Given the description of an element on the screen output the (x, y) to click on. 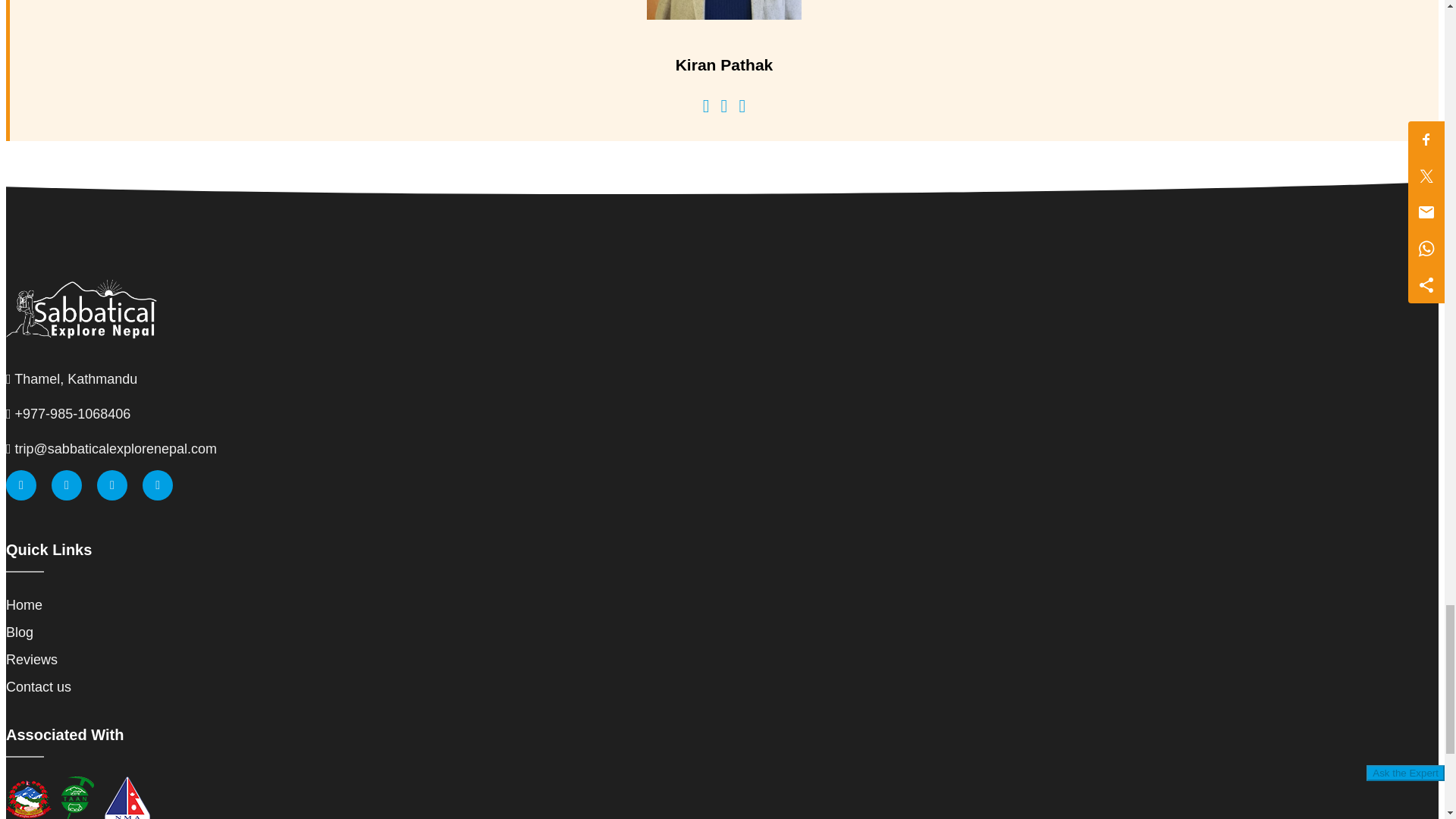
Twitter (65, 484)
Facebook (20, 484)
You Tube (157, 484)
